Given the description of an element on the screen output the (x, y) to click on. 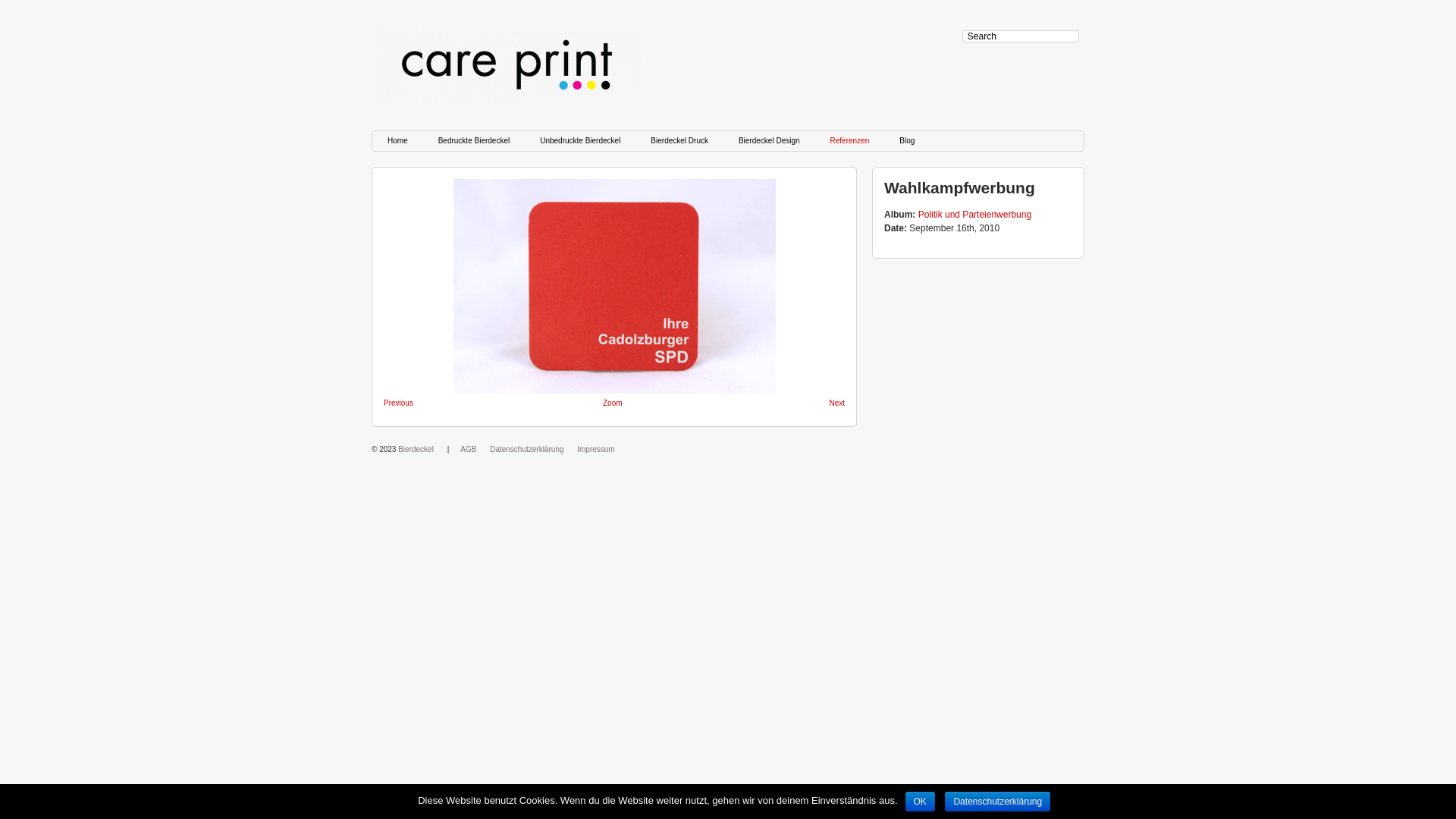
Bedruckte Bierdeckel Element type: text (473, 140)
Unbedruckte Bierdeckel Element type: text (579, 140)
Bierdeckel Druck Element type: text (679, 140)
Referenzen Element type: text (849, 140)
Next Element type: text (836, 402)
AGB Element type: text (468, 449)
Impressum Element type: text (595, 449)
Bierdeckel Element type: text (415, 449)
Wahlkampfwerbung Element type: hover (613, 285)
Home Element type: text (397, 140)
OK Element type: text (920, 801)
Politik und Parteienwerbung Element type: text (974, 214)
Previous Element type: text (398, 402)
Zoom Element type: text (612, 402)
Blog Element type: text (906, 140)
Bierdeckel Design Element type: text (769, 140)
